Given the description of an element on the screen output the (x, y) to click on. 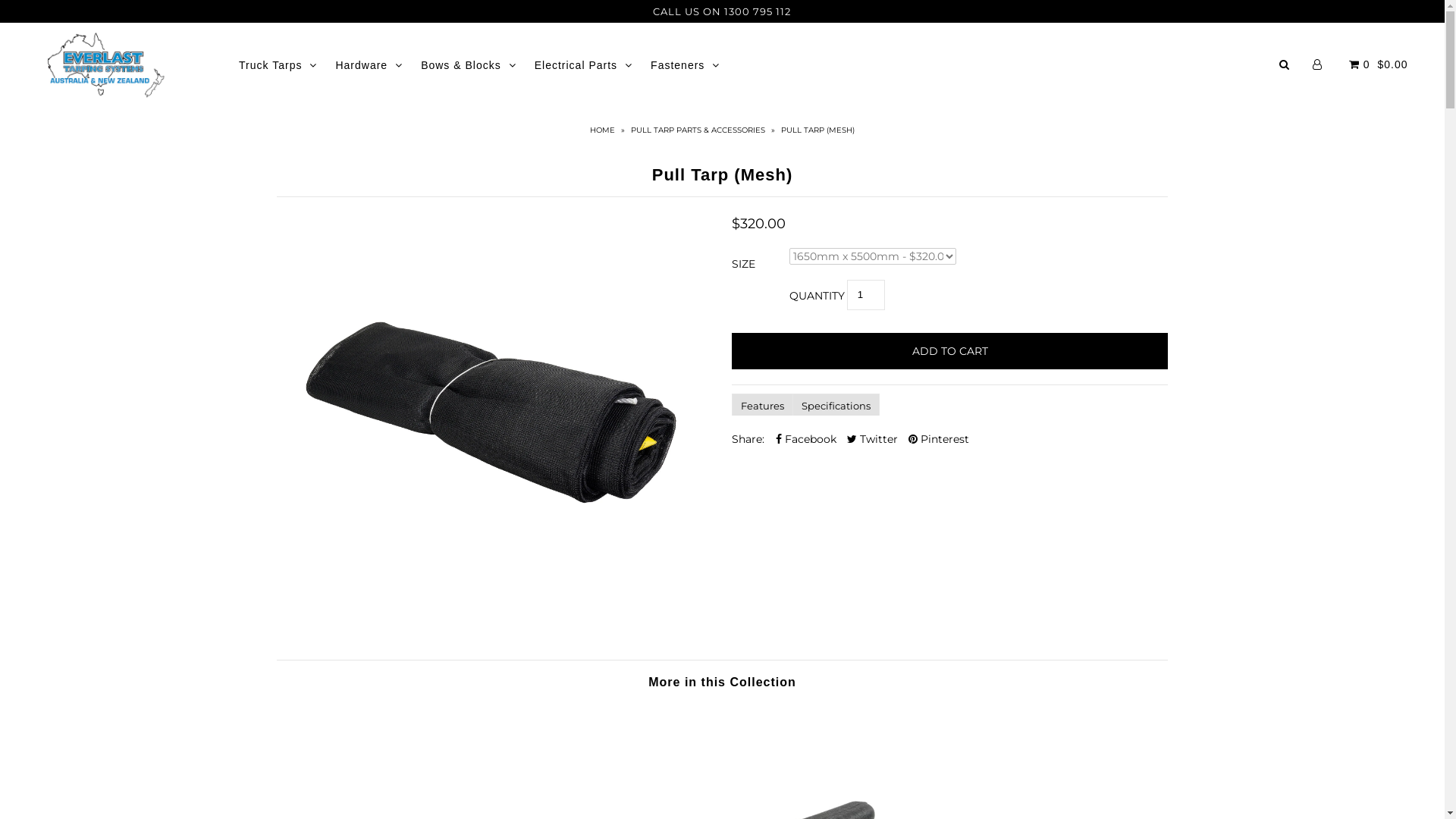
Pinterest Element type: text (938, 438)
Add to Cart Element type: text (949, 350)
Facebook Element type: text (805, 438)
Hardware Element type: text (368, 65)
  0  $0.00 Element type: text (1376, 64)
Electrical Parts Element type: text (583, 65)
Bows & Blocks Element type: text (468, 65)
HOME Element type: text (603, 129)
Features Element type: text (761, 404)
Fasteners Element type: text (685, 65)
Truck Tarps Element type: text (277, 65)
Twitter Element type: text (872, 438)
PULL TARP PARTS & ACCESSORIES Element type: text (699, 129)
Pull Tarp (Mesh) Element type: hover (494, 425)
Specifications Element type: text (835, 404)
